Given the description of an element on the screen output the (x, y) to click on. 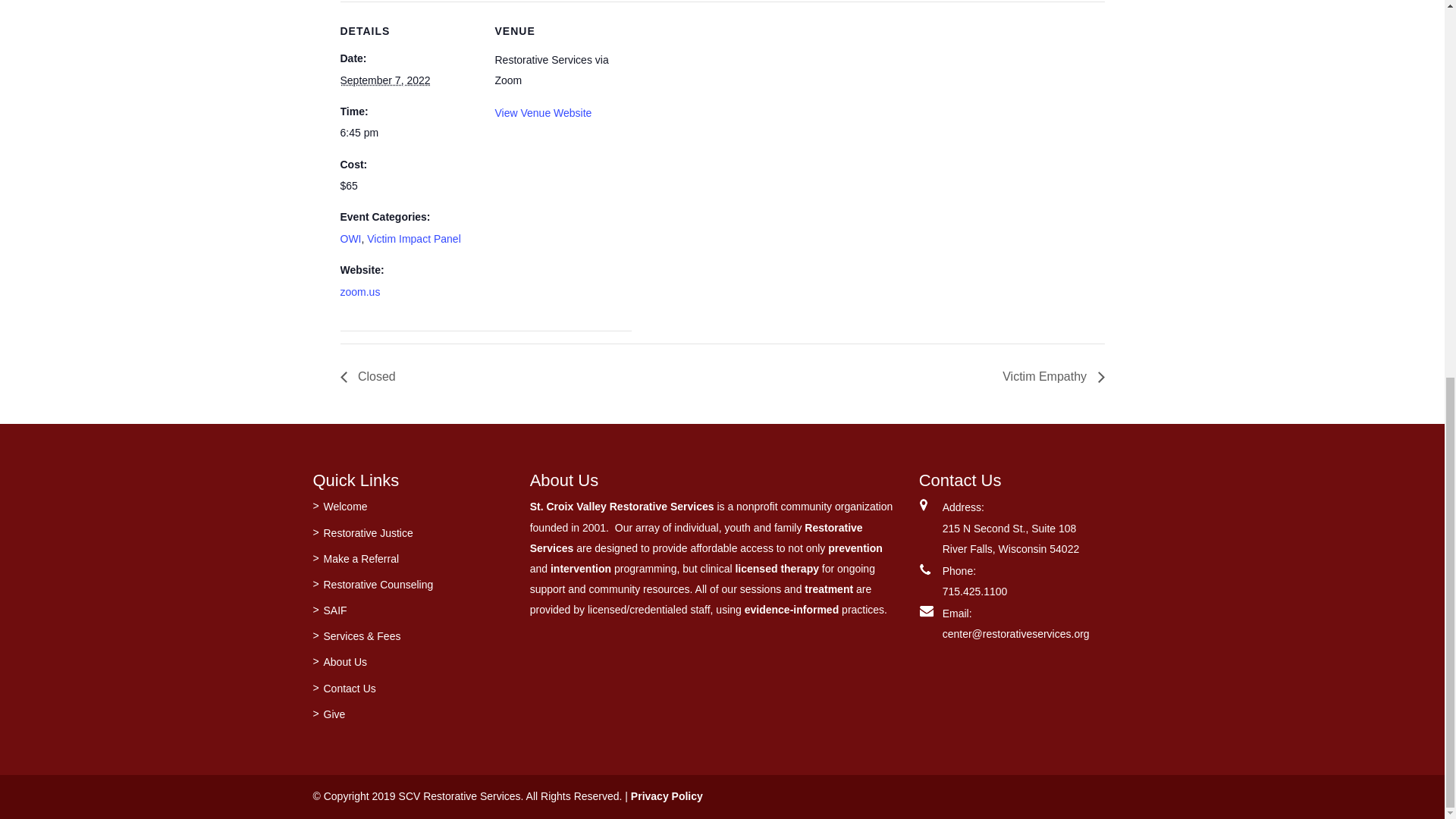
2022-09-07 (407, 132)
2022-09-07 (384, 80)
